Given the description of an element on the screen output the (x, y) to click on. 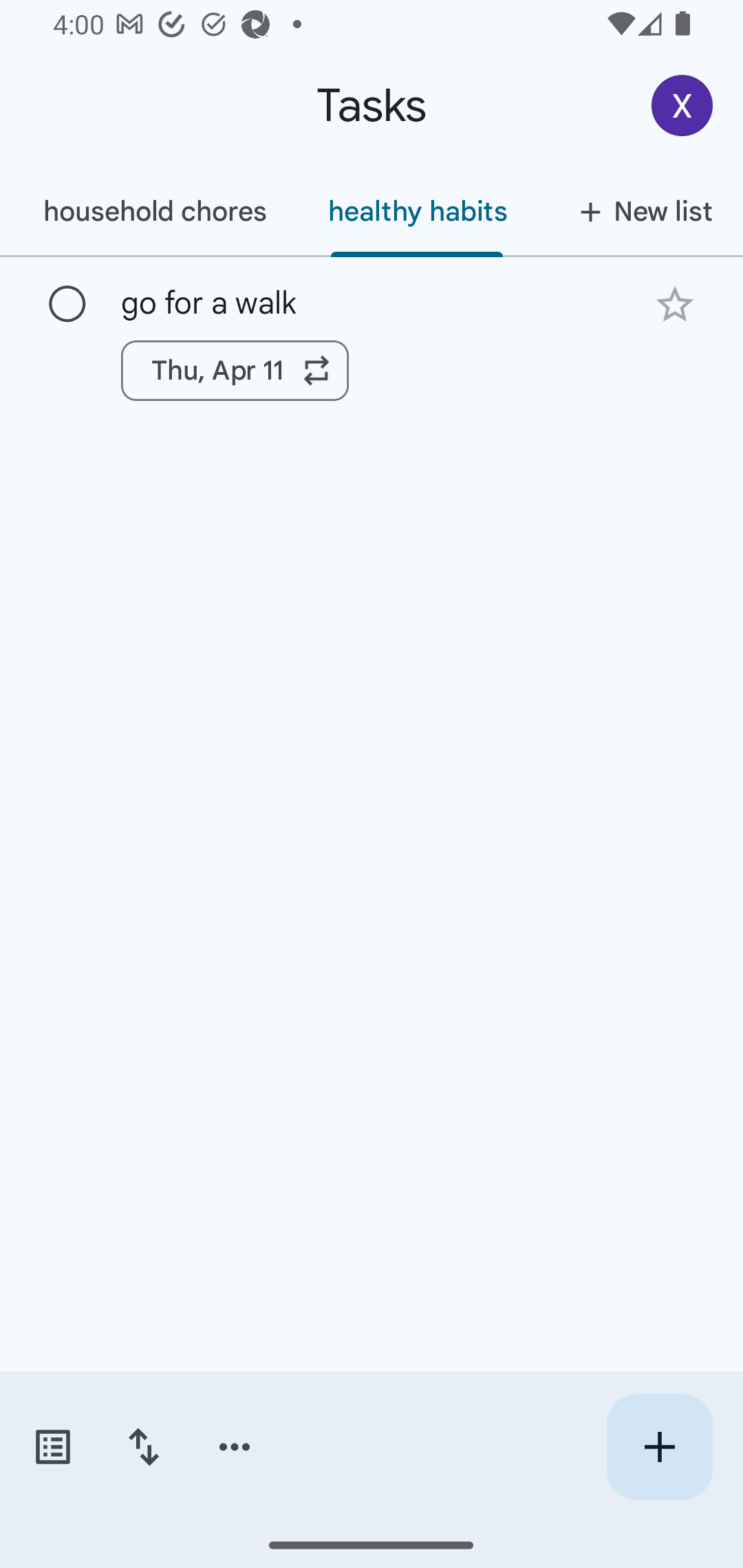
household chores (154, 211)
New list (640, 211)
Add star (674, 303)
Mark as complete (67, 304)
Thu, Apr 11 (234, 369)
Switch task lists (52, 1447)
Create new task (659, 1446)
Change sort order (143, 1446)
More options (234, 1446)
